Given the description of an element on the screen output the (x, y) to click on. 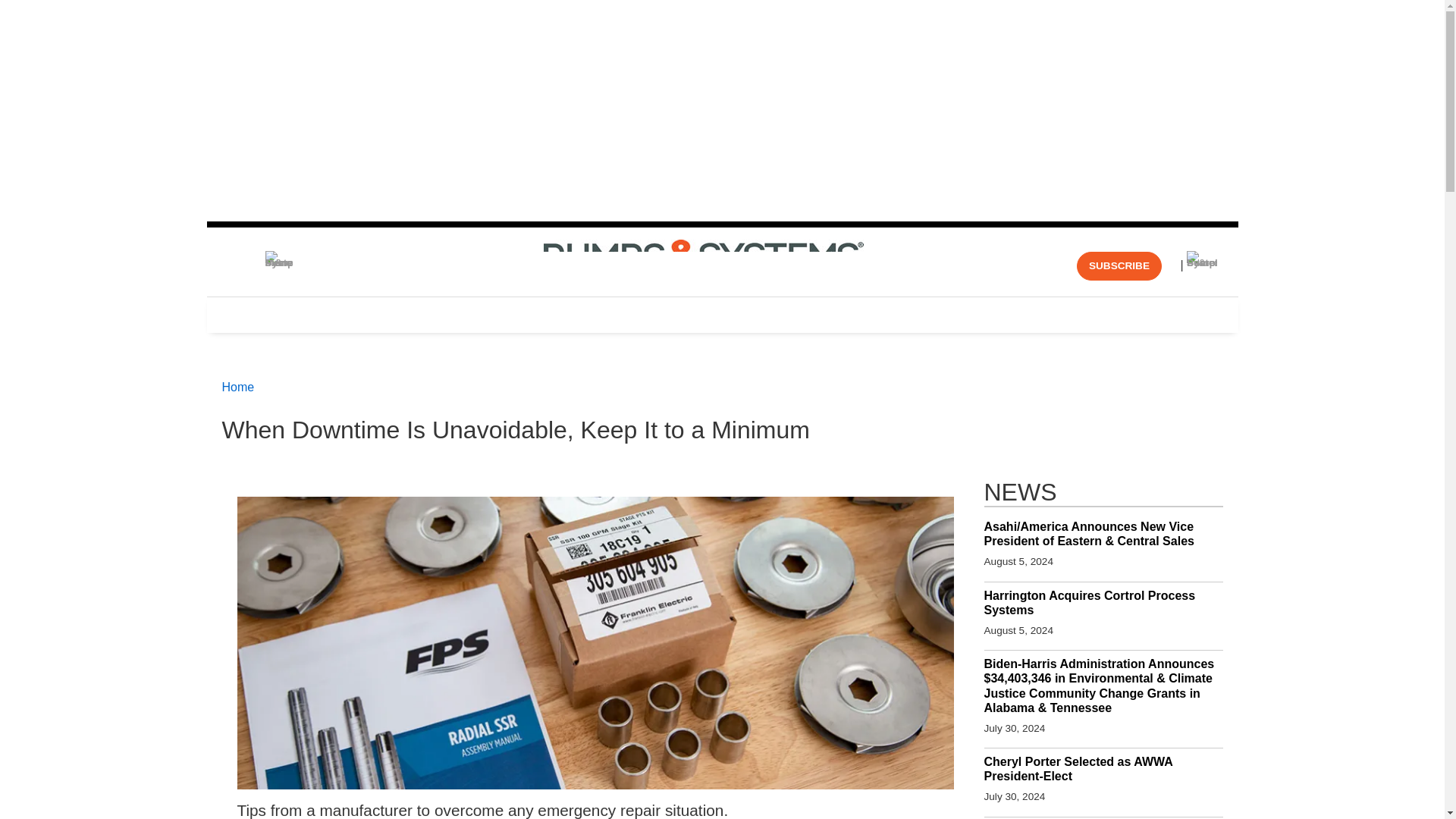
SUBSCRIBE (1119, 265)
